Given the description of an element on the screen output the (x, y) to click on. 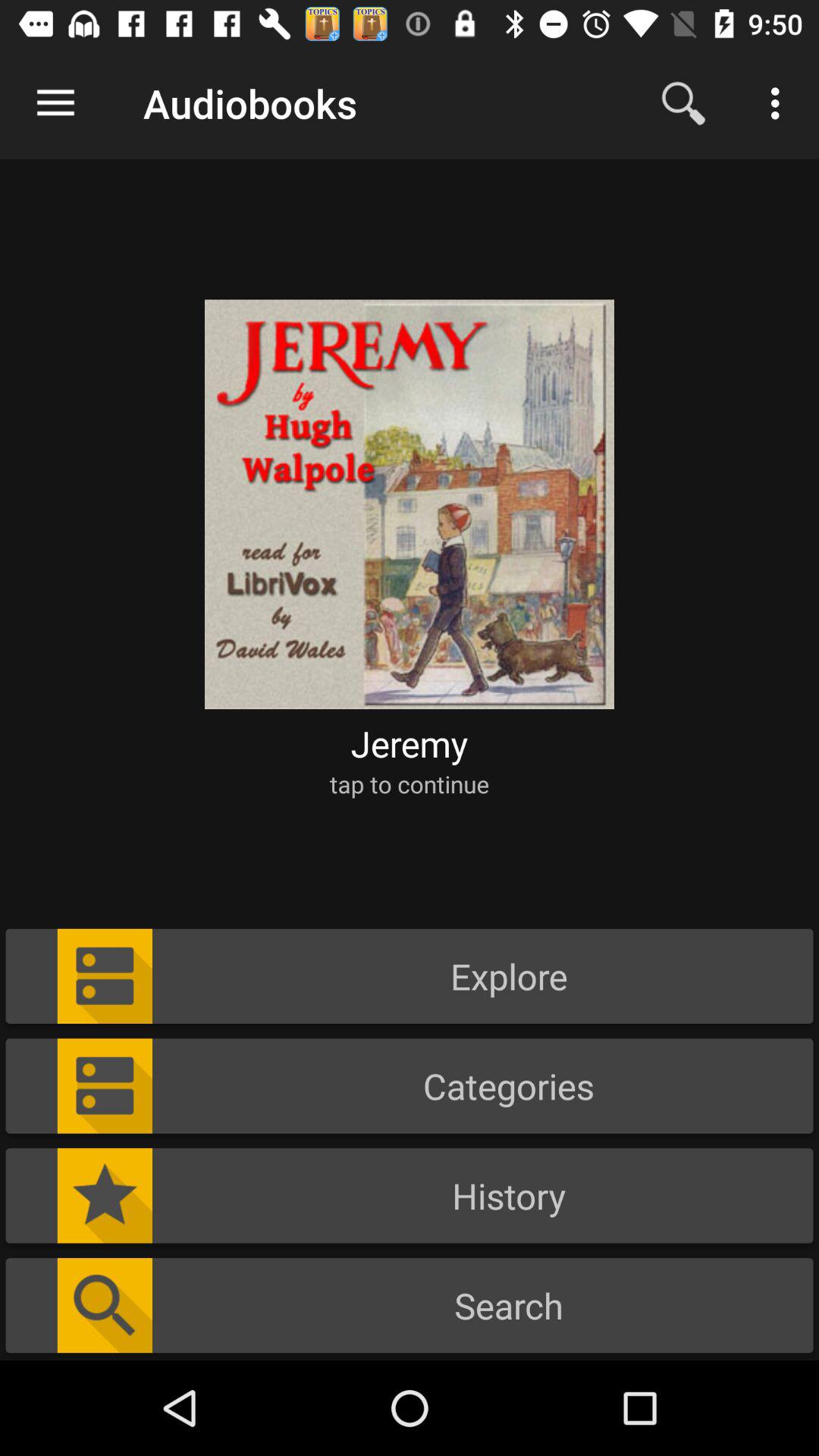
scroll until the jeremy icon (409, 743)
